Given the description of an element on the screen output the (x, y) to click on. 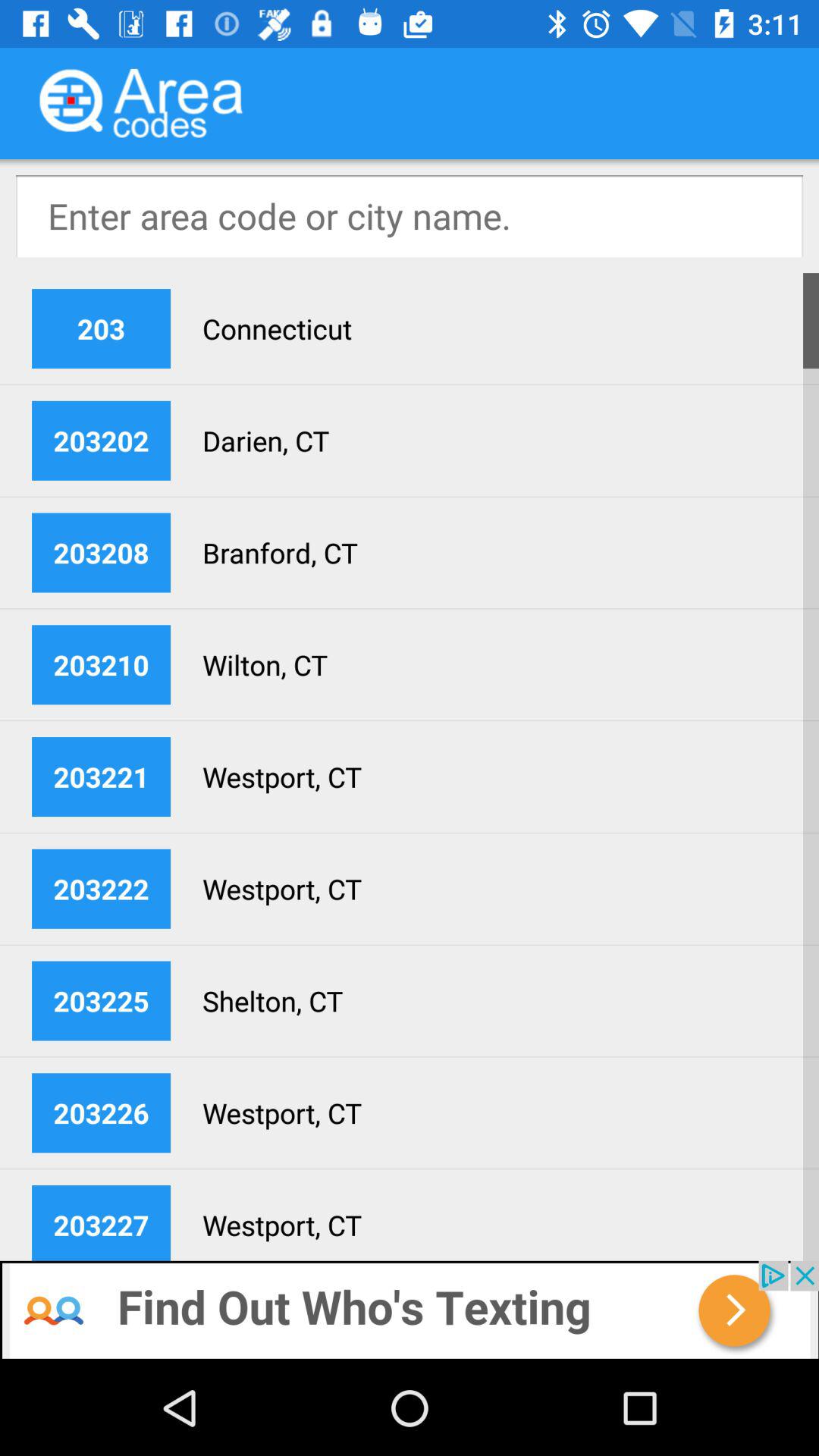
textbox to enter area code (409, 216)
